Given the description of an element on the screen output the (x, y) to click on. 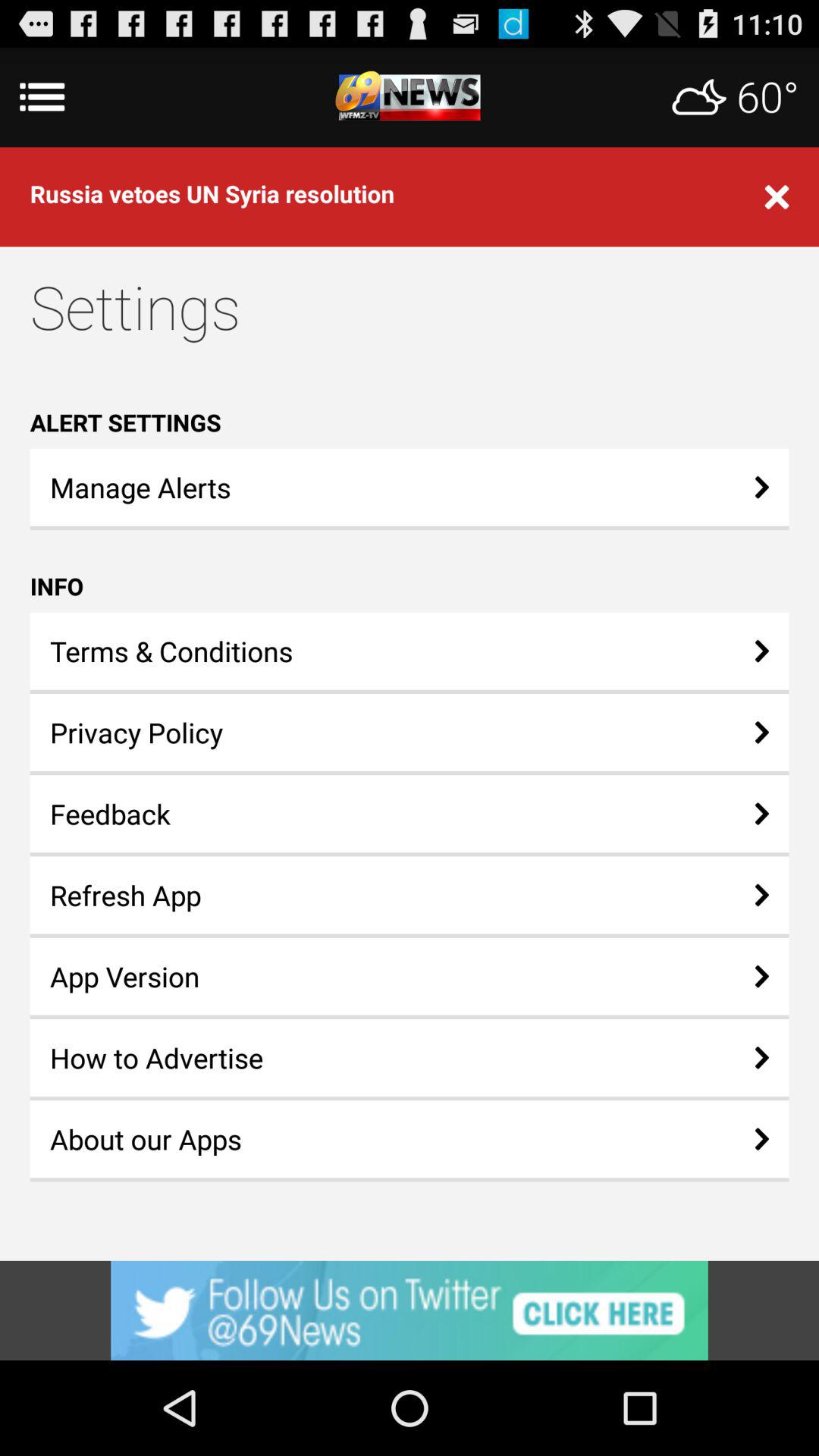
follow the site on twitter (409, 1310)
